Given the description of an element on the screen output the (x, y) to click on. 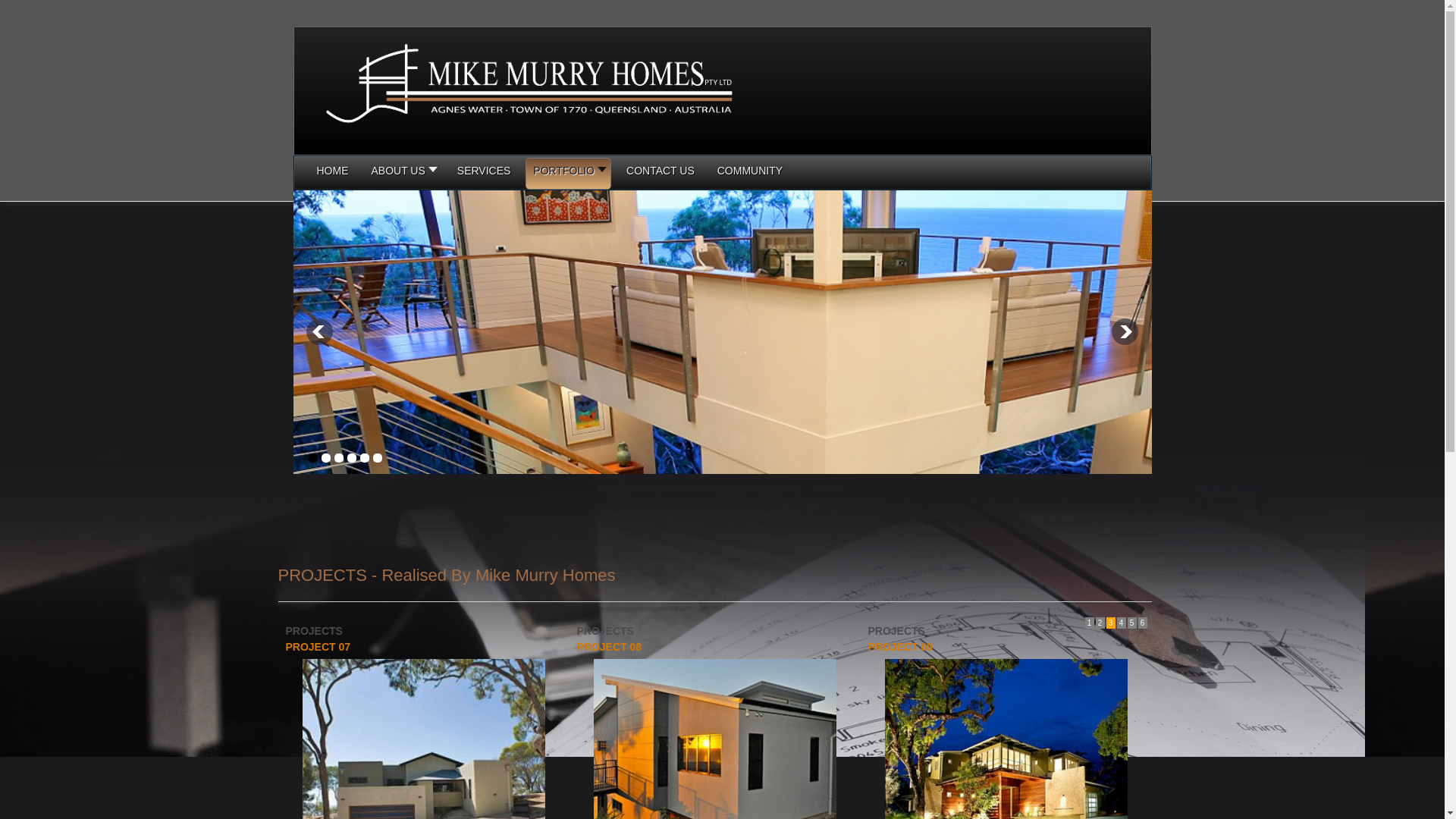
2 Element type: text (1099, 622)
CONTACT US Element type: text (660, 174)
1 Element type: text (1088, 622)
6 Element type: text (1141, 622)
PROJECTS Element type: text (313, 630)
PROJECTS Element type: text (895, 630)
Project 09 Element type: hover (1005, 755)
PROJECT 06 Element type: text (899, 646)
5 Element type: text (1130, 622)
PROJECT 05 Element type: text (608, 646)
PROJECT 04 Element type: text (317, 646)
Project 07 Element type: hover (422, 755)
3 Element type: text (1109, 622)
PORTFOLIO Element type: text (568, 174)
ABOUT US Element type: text (402, 174)
Project 08 Element type: hover (714, 755)
SERVICES Element type: text (484, 174)
4 Element type: text (1120, 622)
COMMUNITY Element type: text (749, 174)
PROJECTS Element type: text (604, 630)
HOME Element type: text (332, 174)
